Given the description of an element on the screen output the (x, y) to click on. 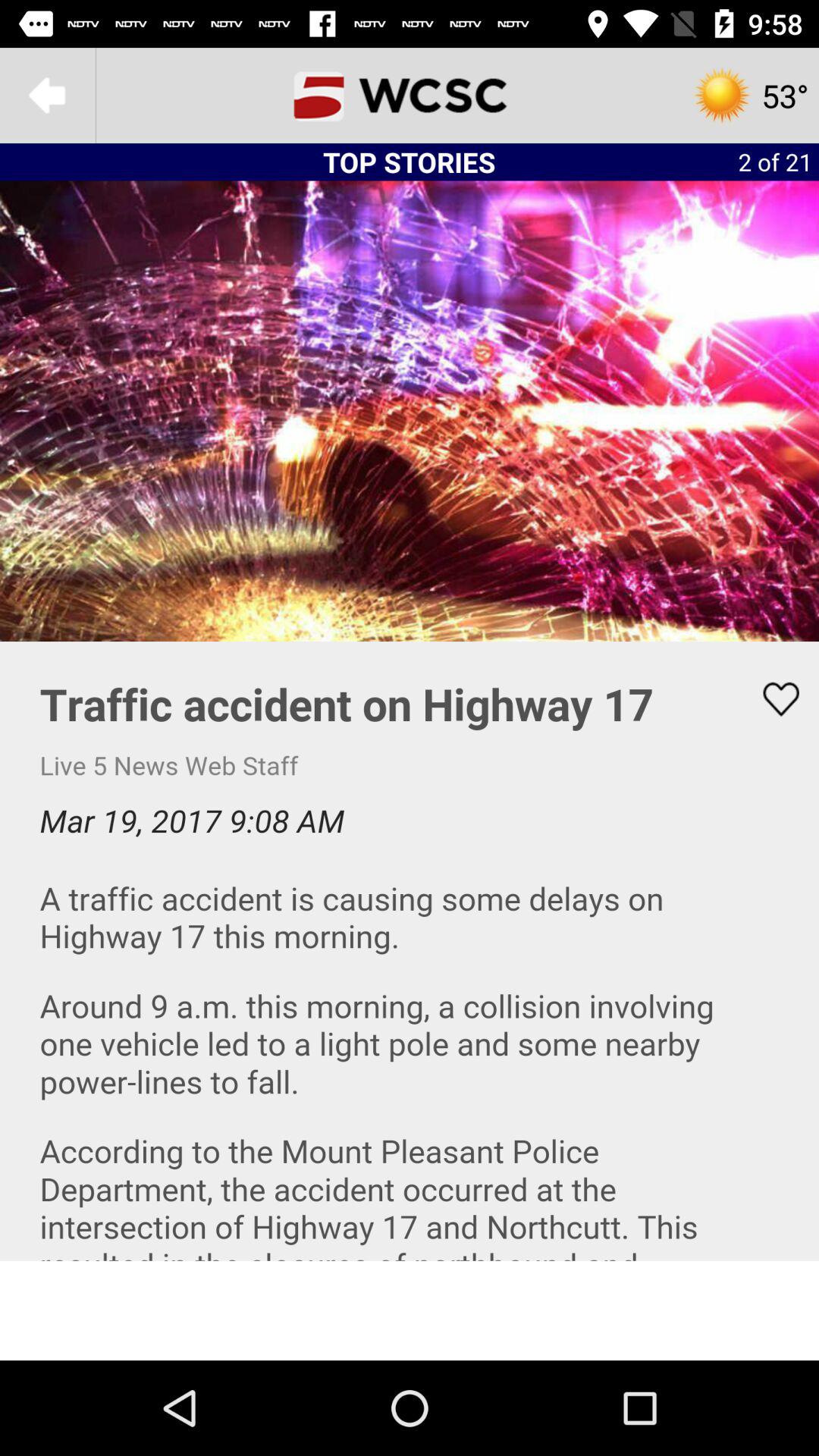
new pega (409, 95)
